Given the description of an element on the screen output the (x, y) to click on. 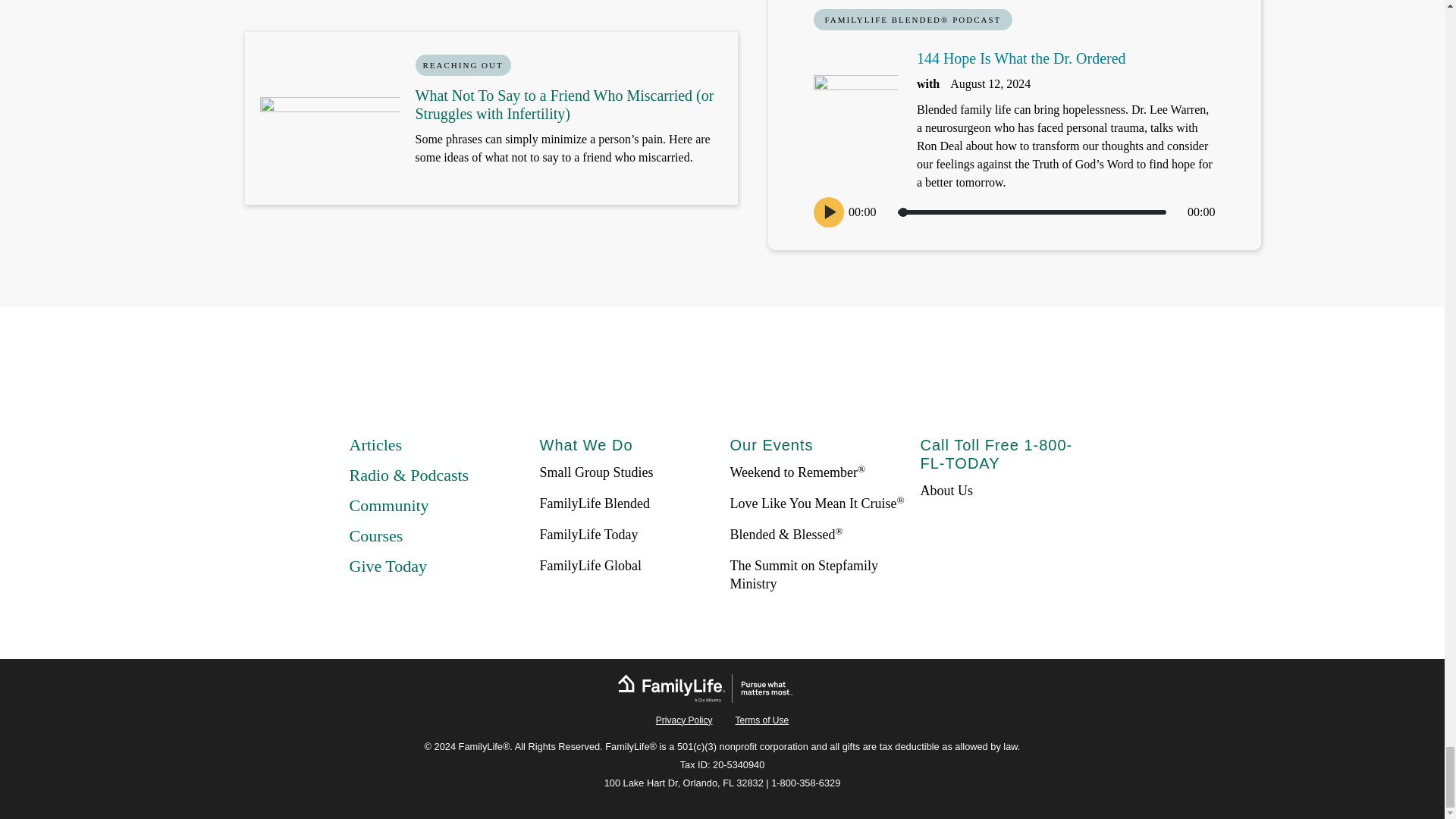
Articles (375, 444)
FamilyLife Global (591, 565)
REACHING OUT (462, 65)
144 Hope Is What the Dr. Ordered (1021, 57)
Community (388, 505)
FamilyLife Blended (594, 503)
0 (1032, 211)
Courses (376, 535)
FamilyLife Today (589, 534)
Small Group Studies (596, 472)
